Given the description of an element on the screen output the (x, y) to click on. 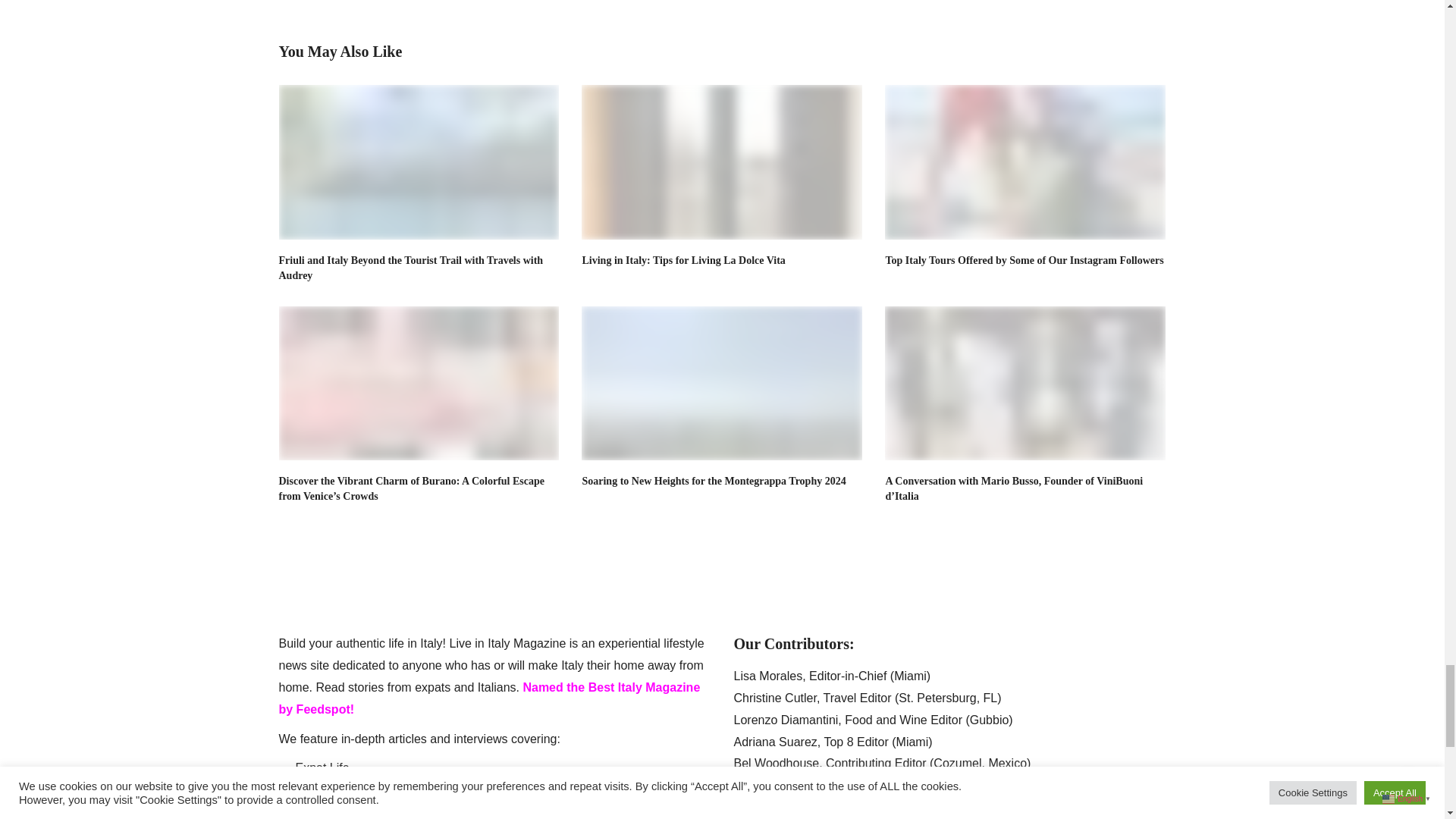
Top Italy Tours Offered by Some of Our Instagram Followers (1025, 162)
Soaring to New Heights for the Montegrappa Trophy 2024 (712, 480)
Living in Italy: Tips for Living La Dolce Vita (720, 162)
Top Italy Tours Offered by Some of Our Instagram Followers (1024, 260)
Living in Italy: Tips for Living La Dolce Vita (682, 260)
Soaring to New Heights for the Montegrappa Trophy 2024 (720, 383)
